Given the description of an element on the screen output the (x, y) to click on. 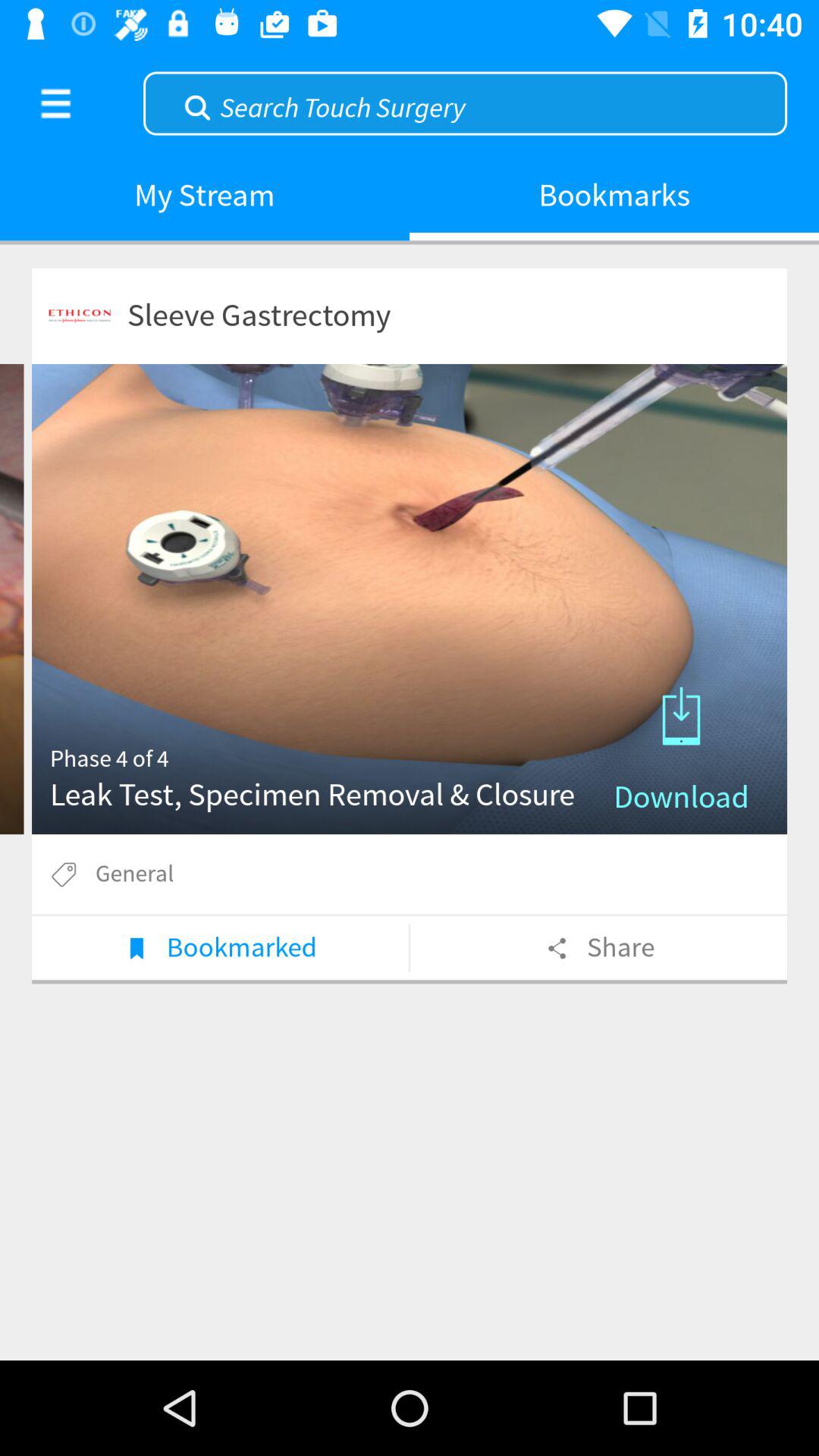
download test (409, 599)
